Given the description of an element on the screen output the (x, y) to click on. 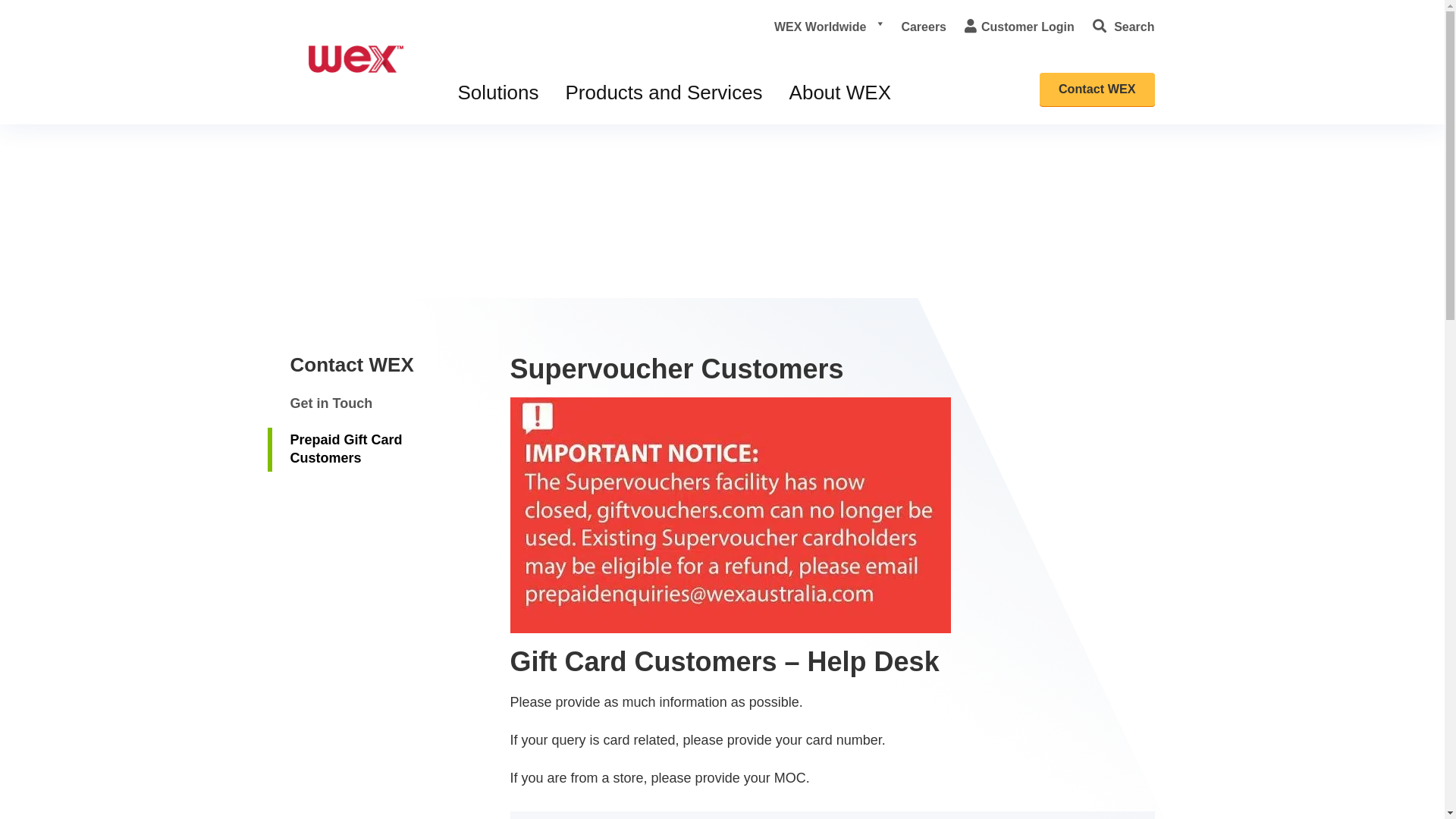
About WEX Element type: text (840, 92)
Customer Login Element type: text (1019, 27)
WEX Worldwide Element type: text (828, 27)
Careers Element type: text (923, 27)
Search Element type: text (1123, 27)
Get in Touch Element type: text (330, 404)
Solutions Element type: text (498, 92)
Contact WEX Element type: text (359, 161)
Contact WEX Element type: text (1096, 89)
Go to WEX Inc.. Element type: hover (295, 159)
Contact WEX Element type: text (351, 364)
Prepaid Gift Card Customers Element type: text (377, 449)
Products and Services Element type: text (663, 92)
